Given the description of an element on the screen output the (x, y) to click on. 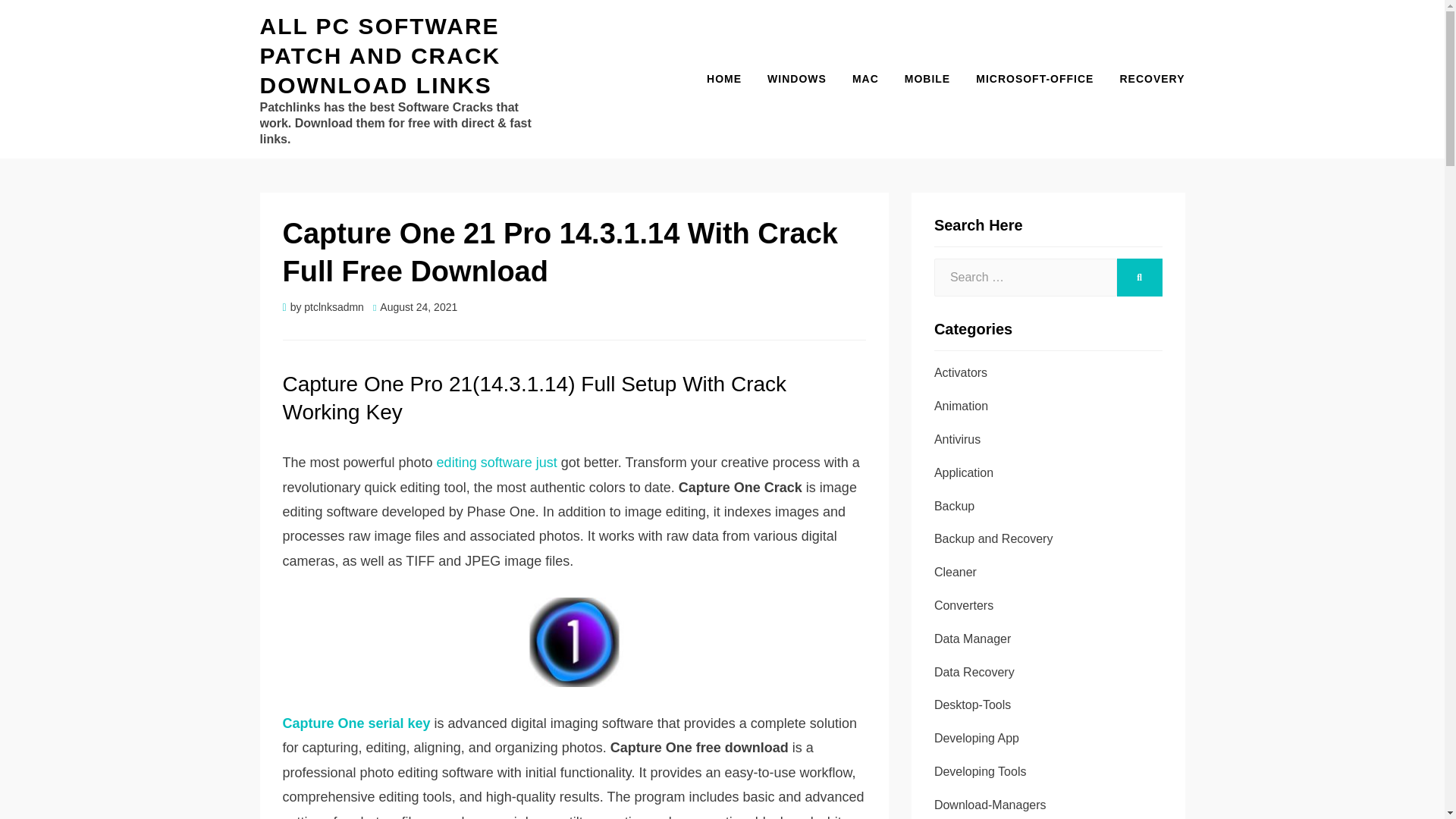
WINDOWS (797, 78)
August 24, 2021 (414, 306)
editing software just (496, 462)
All PC Software Patch and Crack Download Links (379, 55)
Capture One serial key (355, 723)
RECOVERY (1145, 78)
MOBILE (926, 78)
HOME (724, 78)
MICROSOFT-OFFICE (1034, 78)
MAC (865, 78)
ALL PC SOFTWARE PATCH AND CRACK DOWNLOAD LINKS (379, 55)
ptclnksadmn (334, 306)
